Given the description of an element on the screen output the (x, y) to click on. 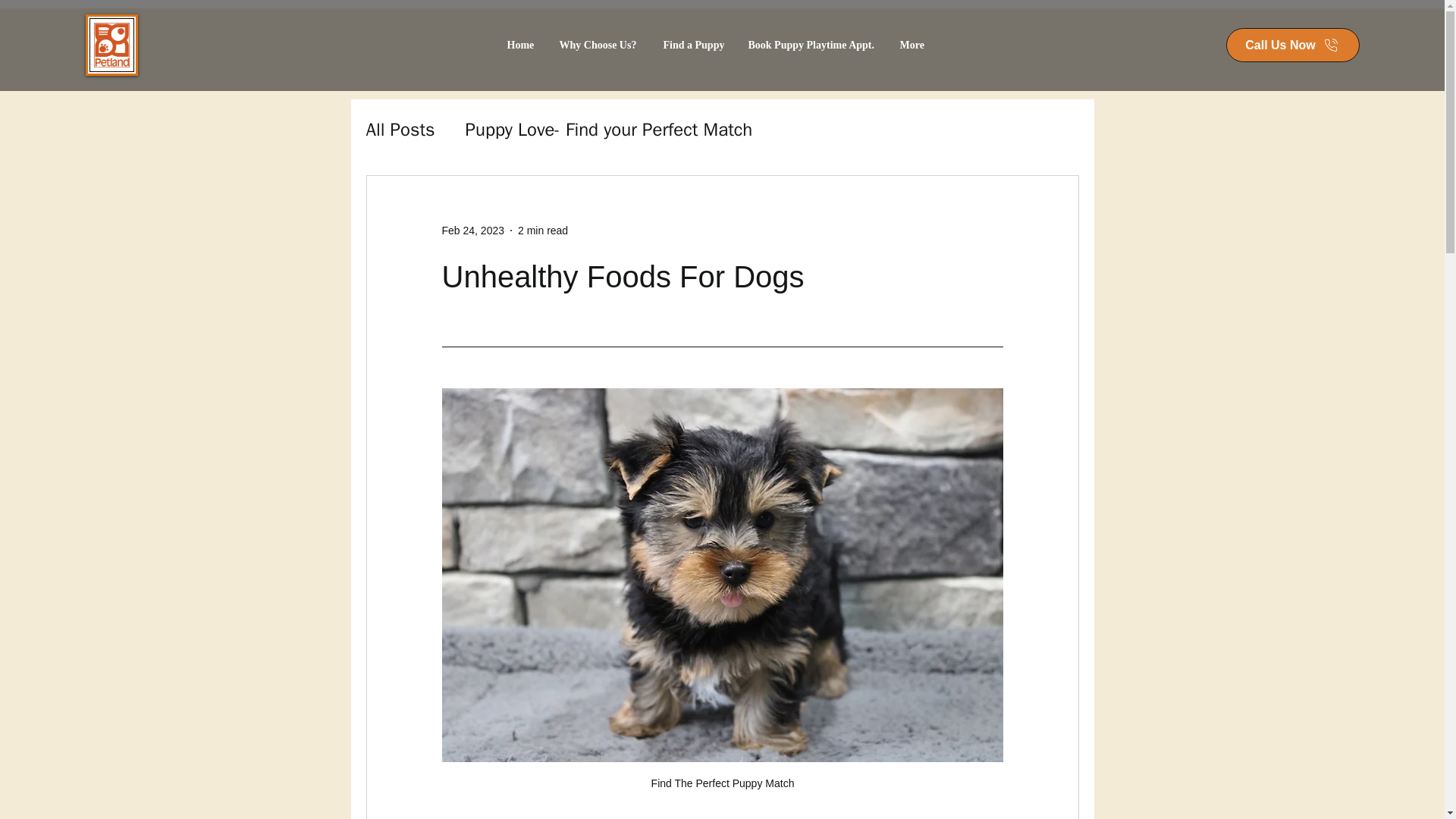
All Posts (399, 129)
Find a Puppy (697, 44)
2 min read (542, 230)
Home (525, 44)
Book Puppy Playtime Appt. (815, 44)
Call Us Now (1291, 44)
Why Choose Us? (603, 44)
Puppy Love- Find your Perfect Match (608, 129)
Feb 24, 2023 (472, 230)
